Given the description of an element on the screen output the (x, y) to click on. 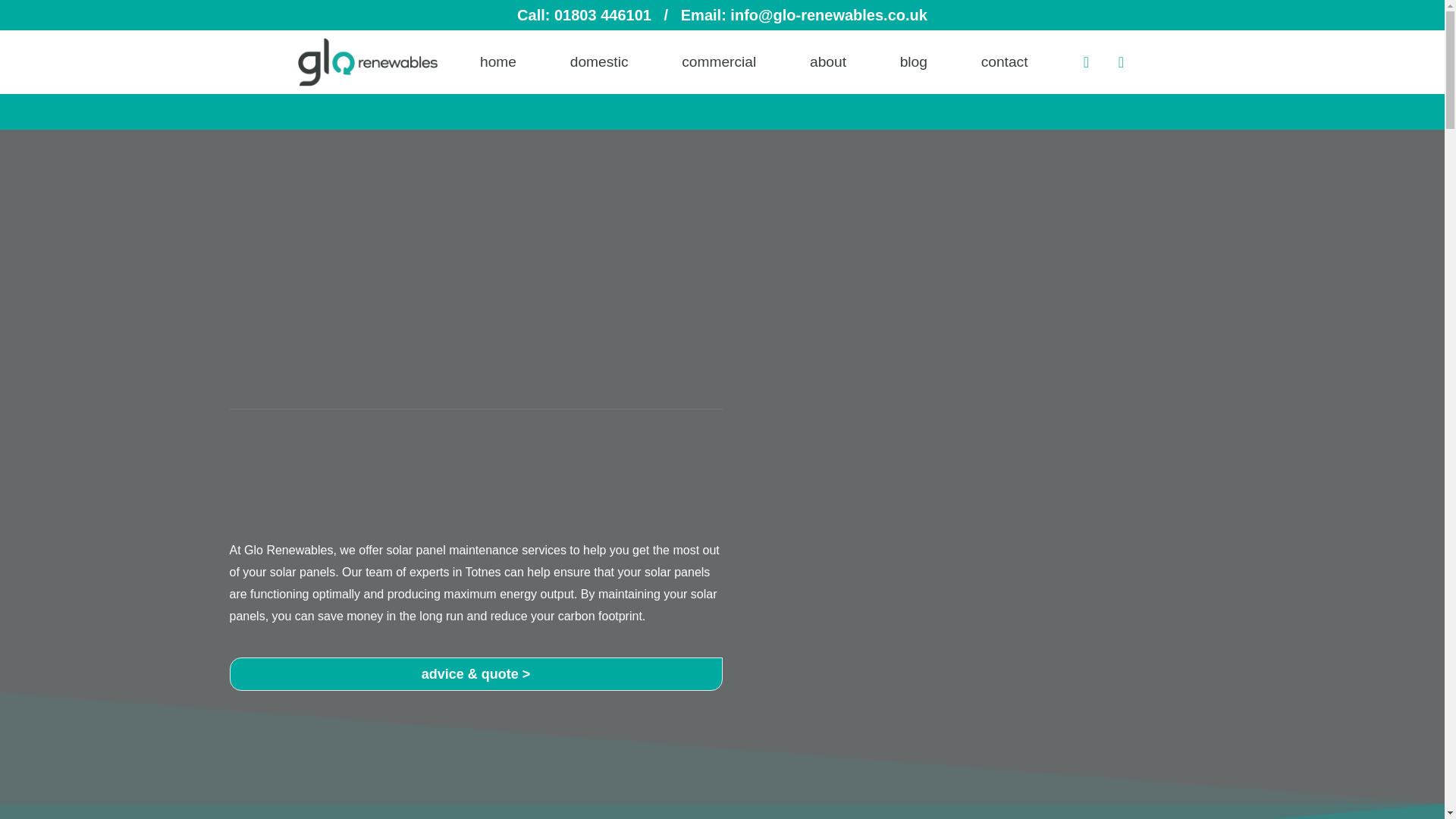
home (497, 62)
domestic (598, 62)
blog (912, 62)
about (828, 62)
commercial (719, 62)
contact (1003, 62)
